Given the description of an element on the screen output the (x, y) to click on. 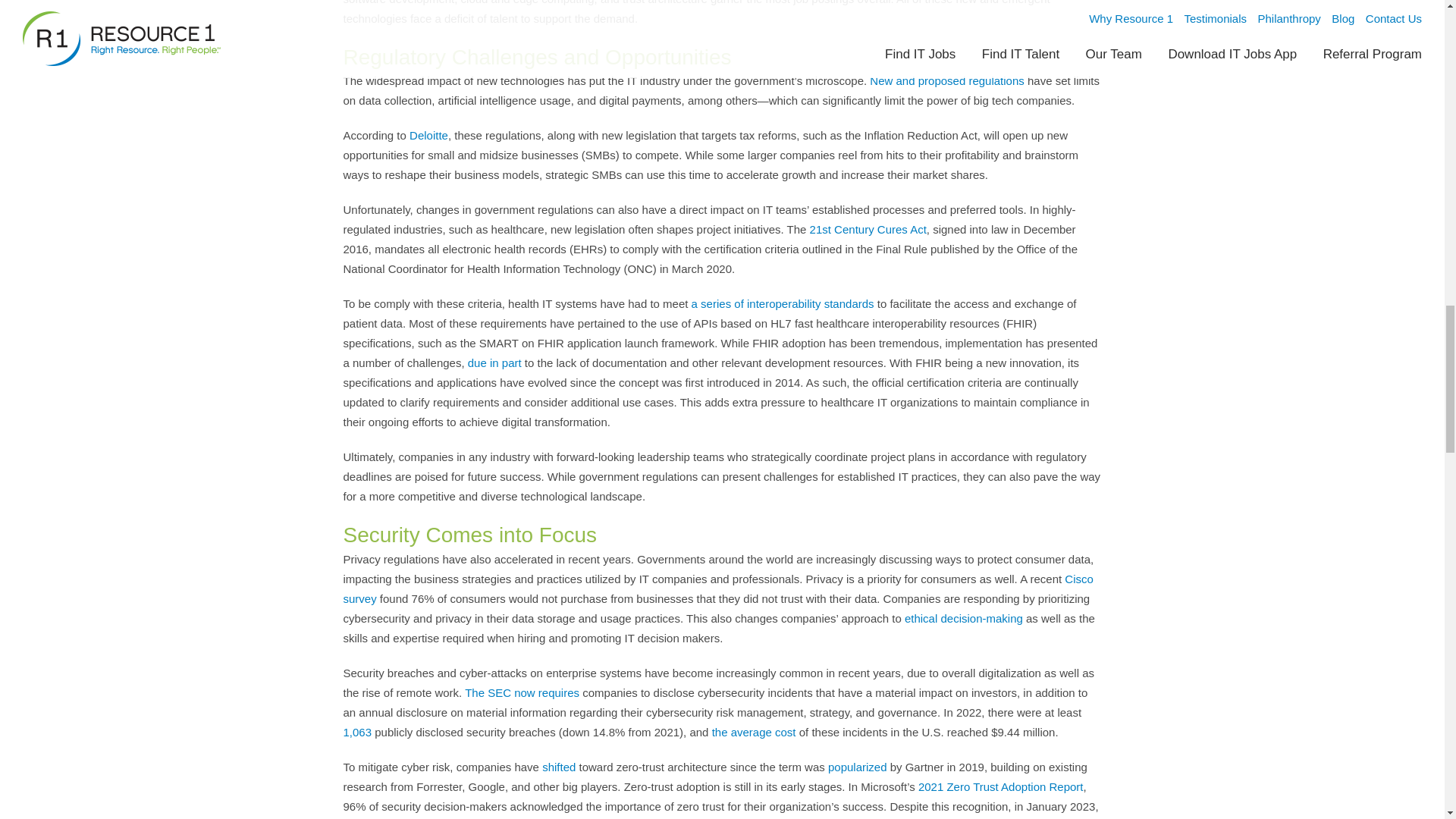
a series of interoperability standards (783, 303)
Deloitte (428, 134)
Cisco survey (717, 588)
21st Century Cures Act (867, 228)
due in part (494, 362)
New and proposed regulations (946, 80)
